Given the description of an element on the screen output the (x, y) to click on. 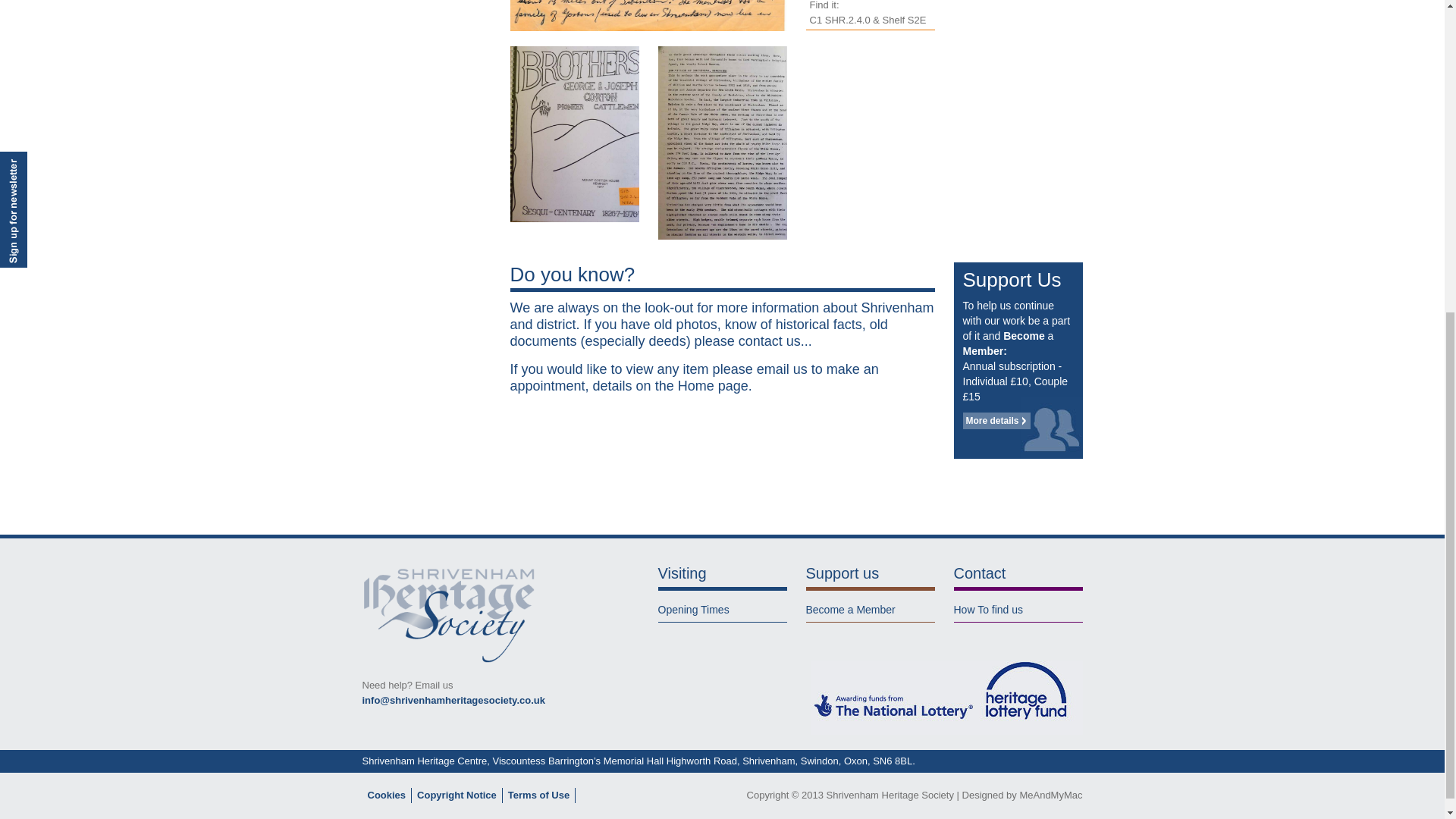
Become a Member (850, 609)
Terms of Use (538, 794)
Cookies (386, 794)
Copyright Notice (456, 794)
More details (996, 420)
Opening Times (693, 609)
How To find us (988, 609)
Terms of Use (538, 794)
Copyright Notice (456, 794)
The first page of one of the letters. See the PDF file (647, 15)
Cookies (386, 794)
